Given the description of an element on the screen output the (x, y) to click on. 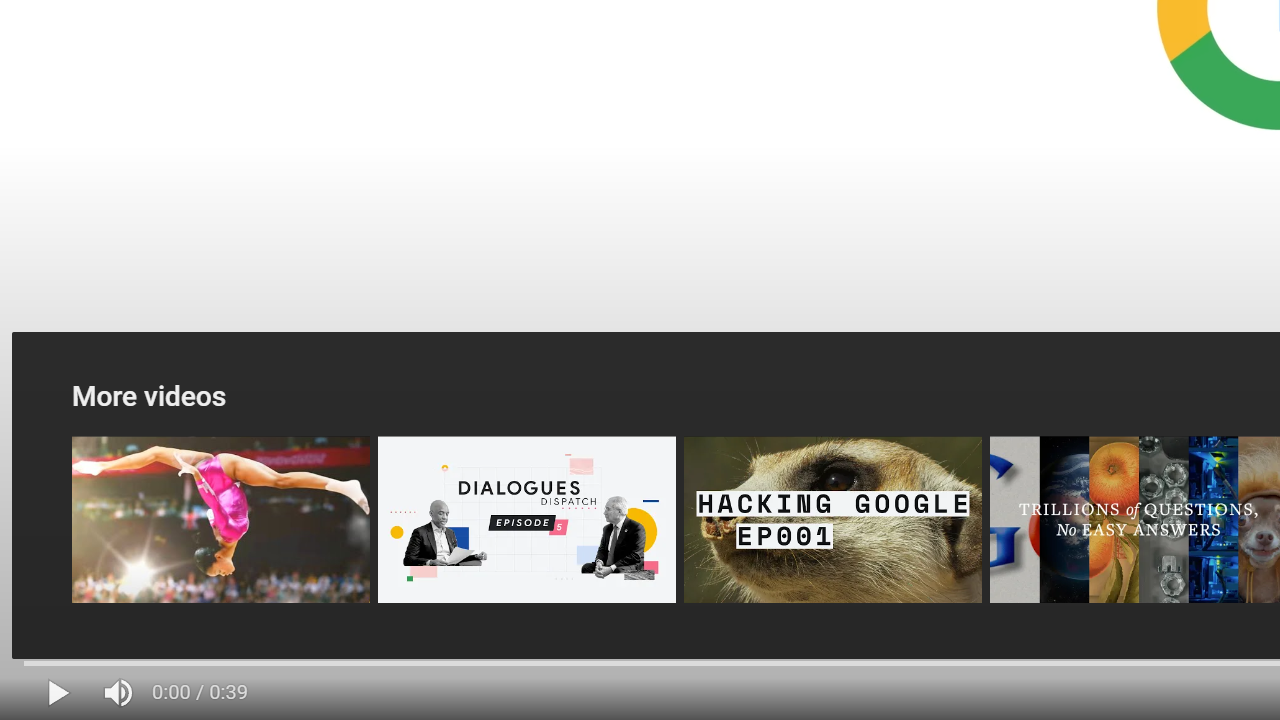
Mute (m) (120, 693)
Threat Analysis Group | HACKING GOOGLE | Documentary EP001 (832, 519)
Year in Search 2012: Year In Review (220, 519)
Pause keyboard shortcut k (58, 693)
